Given the description of an element on the screen output the (x, y) to click on. 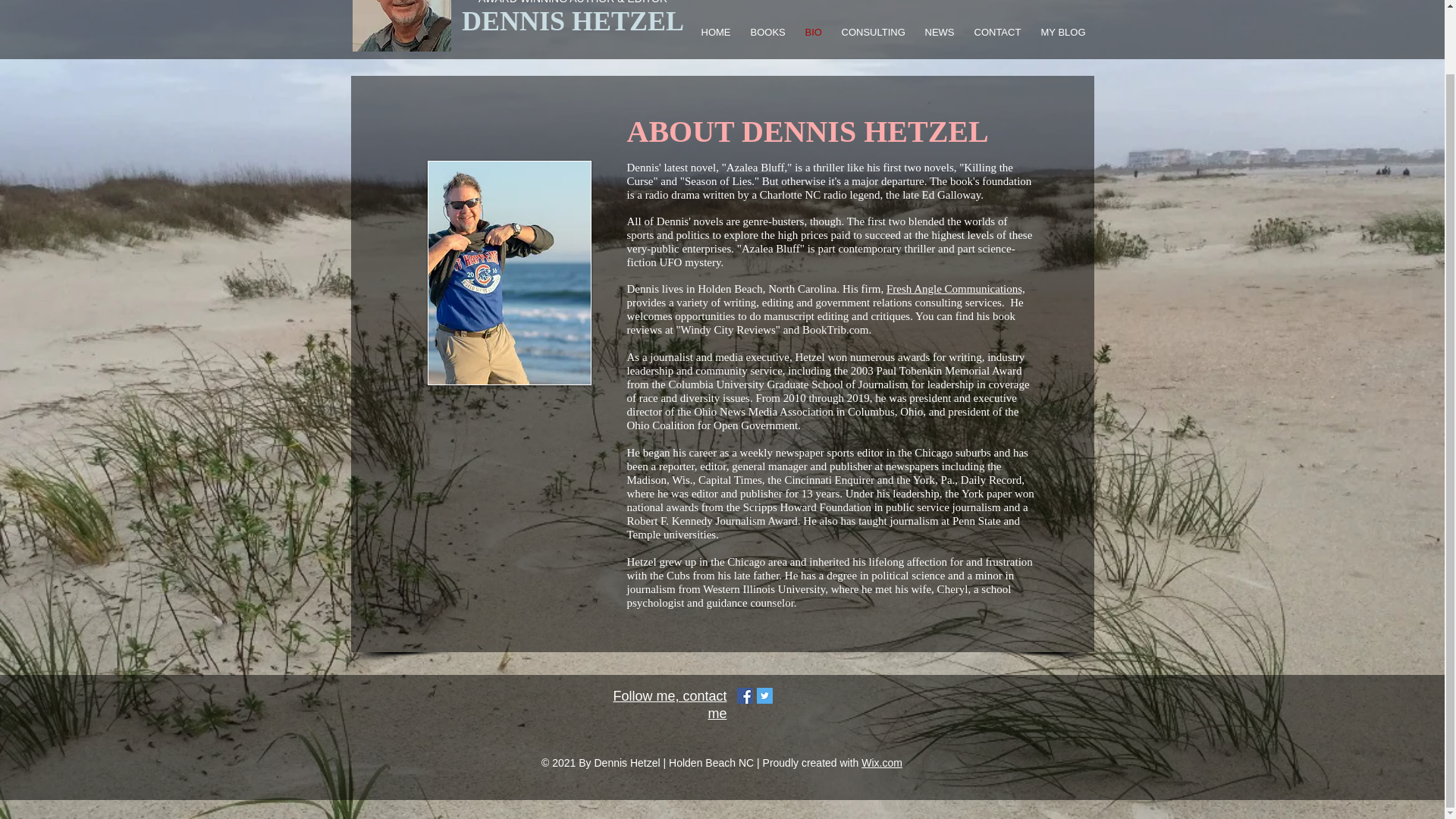
HOME (717, 32)
BIO (814, 32)
CONTACT (999, 32)
MY BLOG (1064, 32)
Follow me, contact me (669, 704)
NEWS (940, 32)
DENNIS HETZEL 0001.jpg (400, 25)
CONSULTING (873, 32)
Wix.com (881, 762)
BOOKS (768, 32)
